Given the description of an element on the screen output the (x, y) to click on. 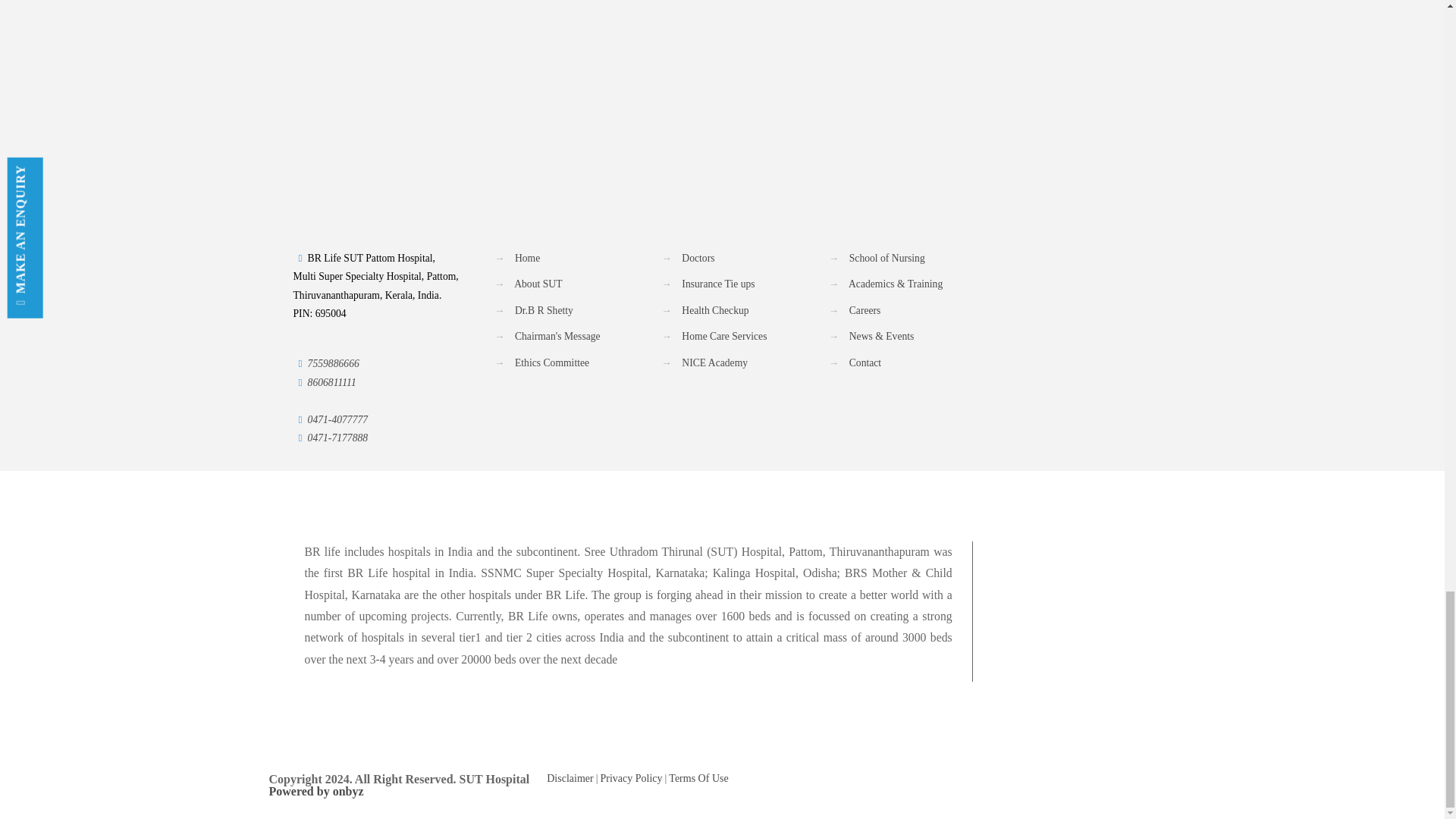
Instagram (1152, 779)
LinkedIn (1132, 779)
Facebook (1091, 779)
YouTube (1111, 779)
